Given the description of an element on the screen output the (x, y) to click on. 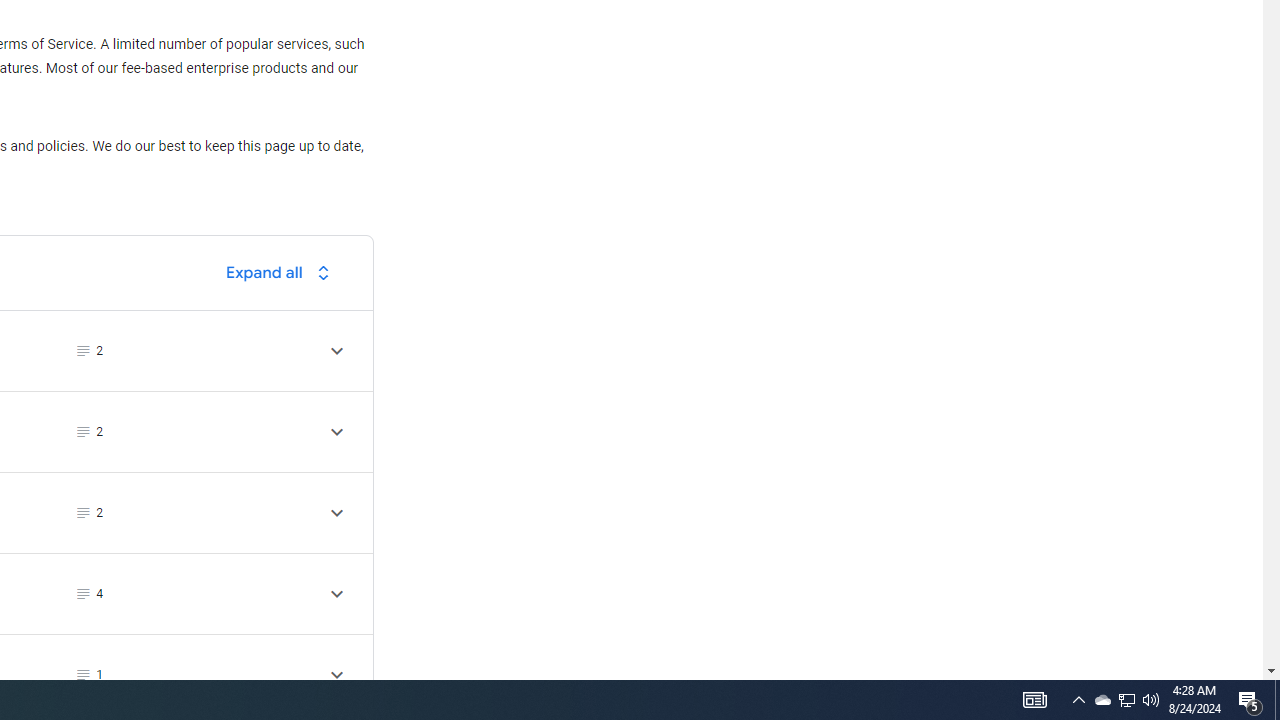
Expand all (283, 272)
